Given the description of an element on the screen output the (x, y) to click on. 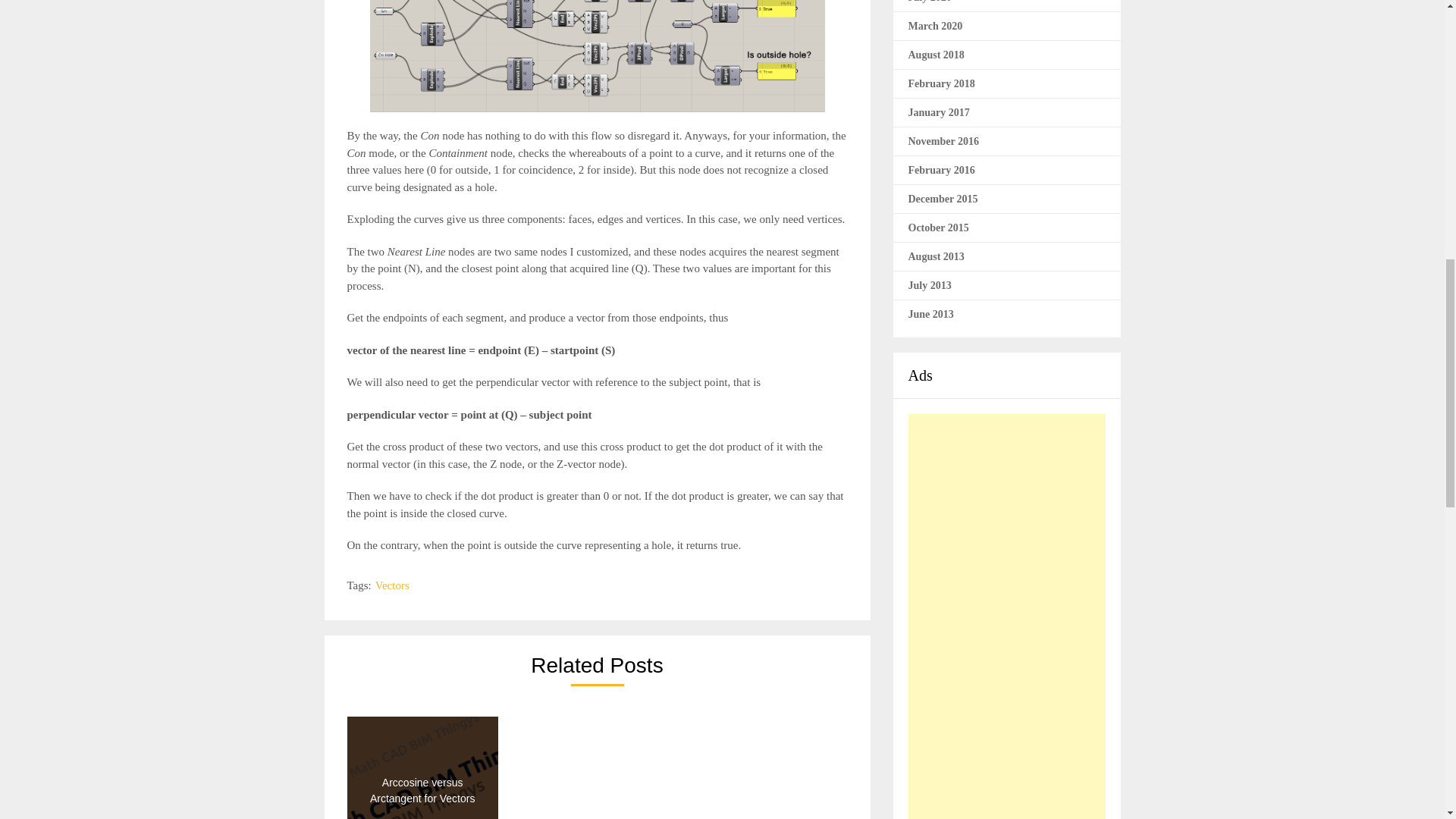
October 2015 (938, 226)
February 2016 (941, 169)
December 2015 (943, 197)
February 2018 (941, 82)
November 2016 (943, 140)
July 2013 (930, 284)
August 2018 (935, 53)
June 2013 (930, 313)
March 2020 (935, 25)
January 2017 (938, 111)
July 2020 (930, 1)
Vectors (392, 585)
Advertisement (1006, 616)
August 2013 (935, 255)
